Given the description of an element on the screen output the (x, y) to click on. 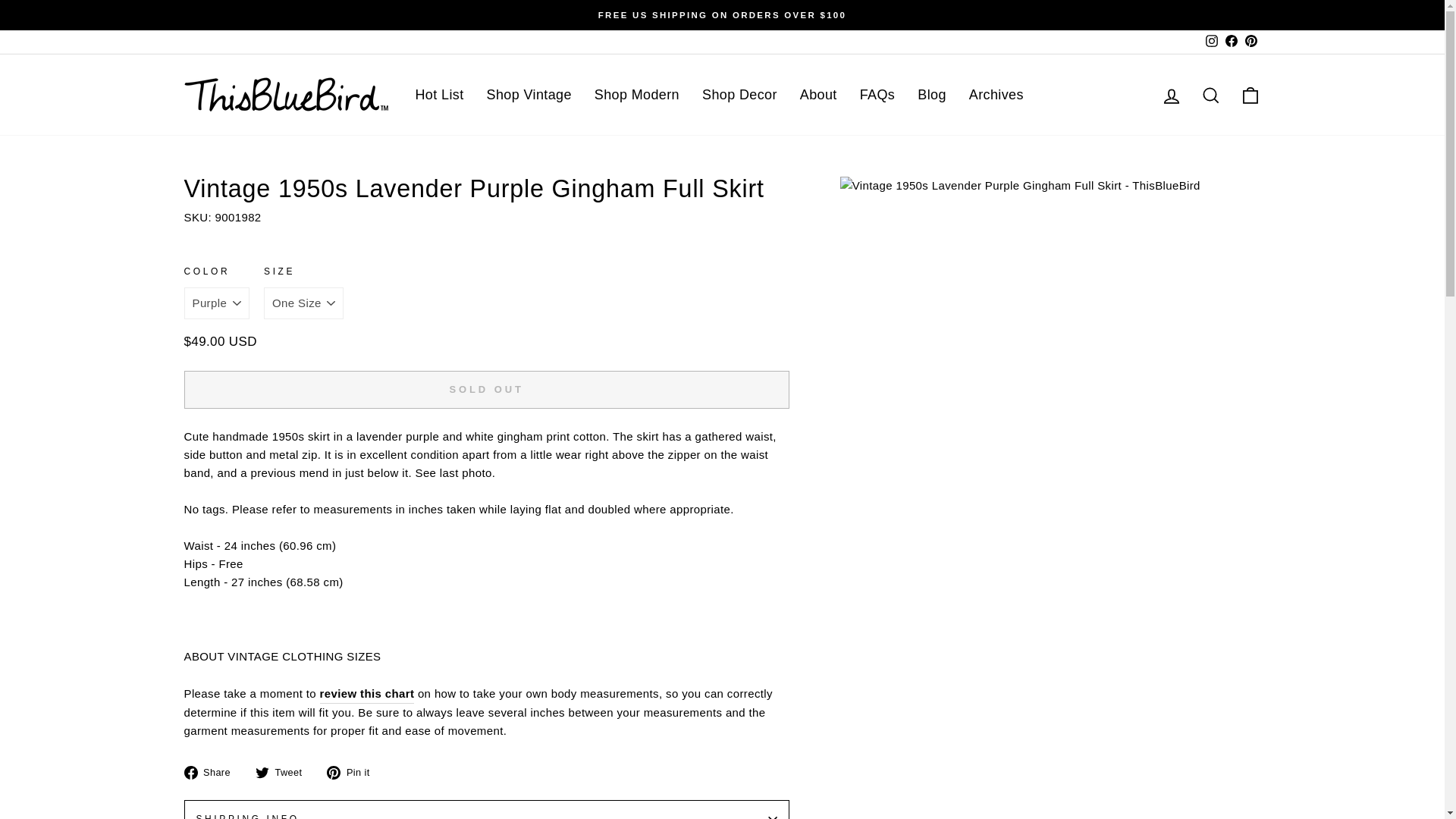
How to take your body measurements. (367, 693)
Hot List (438, 94)
Tweet on Twitter (284, 771)
Pin on Pinterest (353, 771)
Share on Facebook (212, 771)
